Given the description of an element on the screen output the (x, y) to click on. 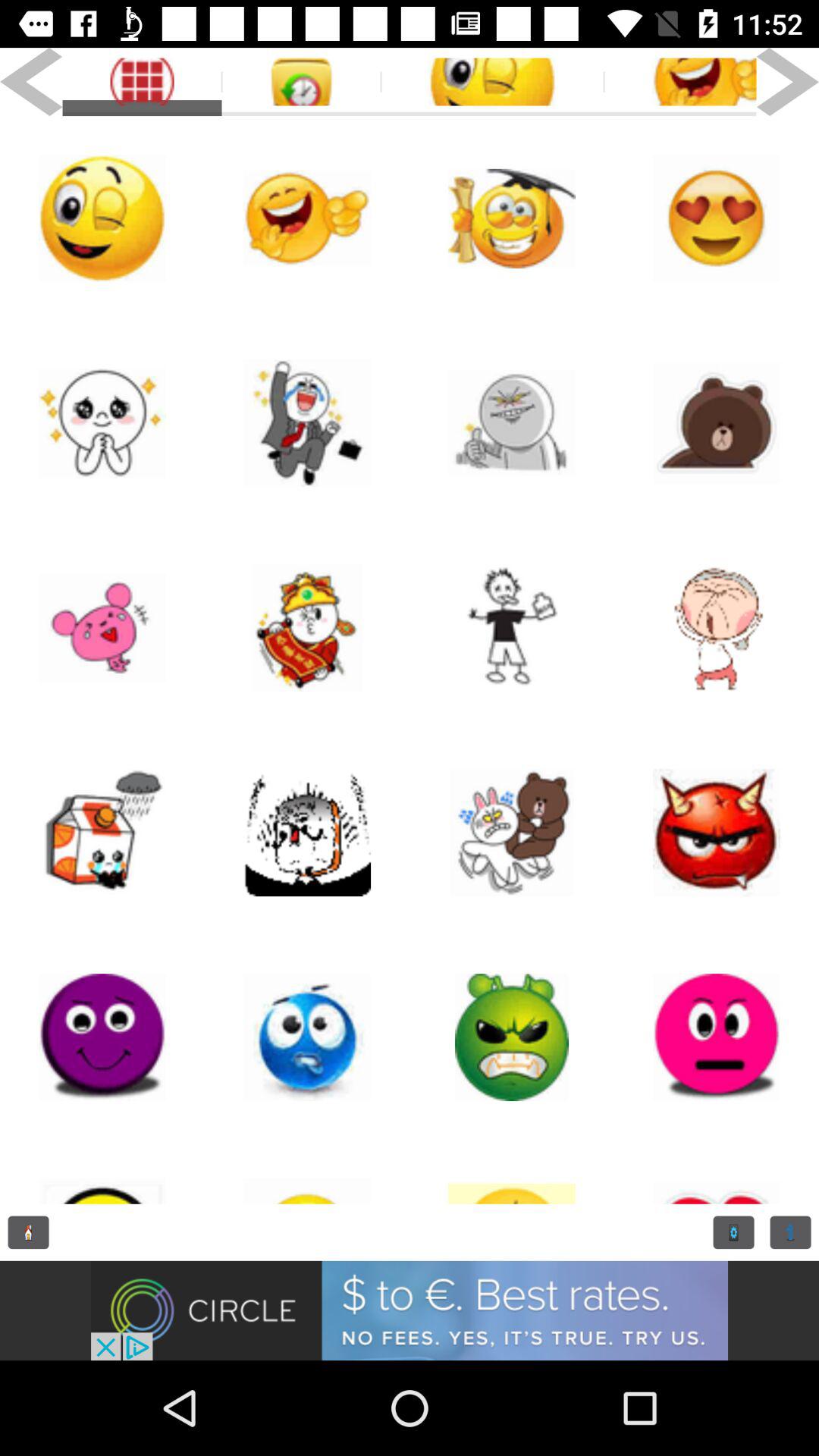
funny symbol (102, 627)
